Given the description of an element on the screen output the (x, y) to click on. 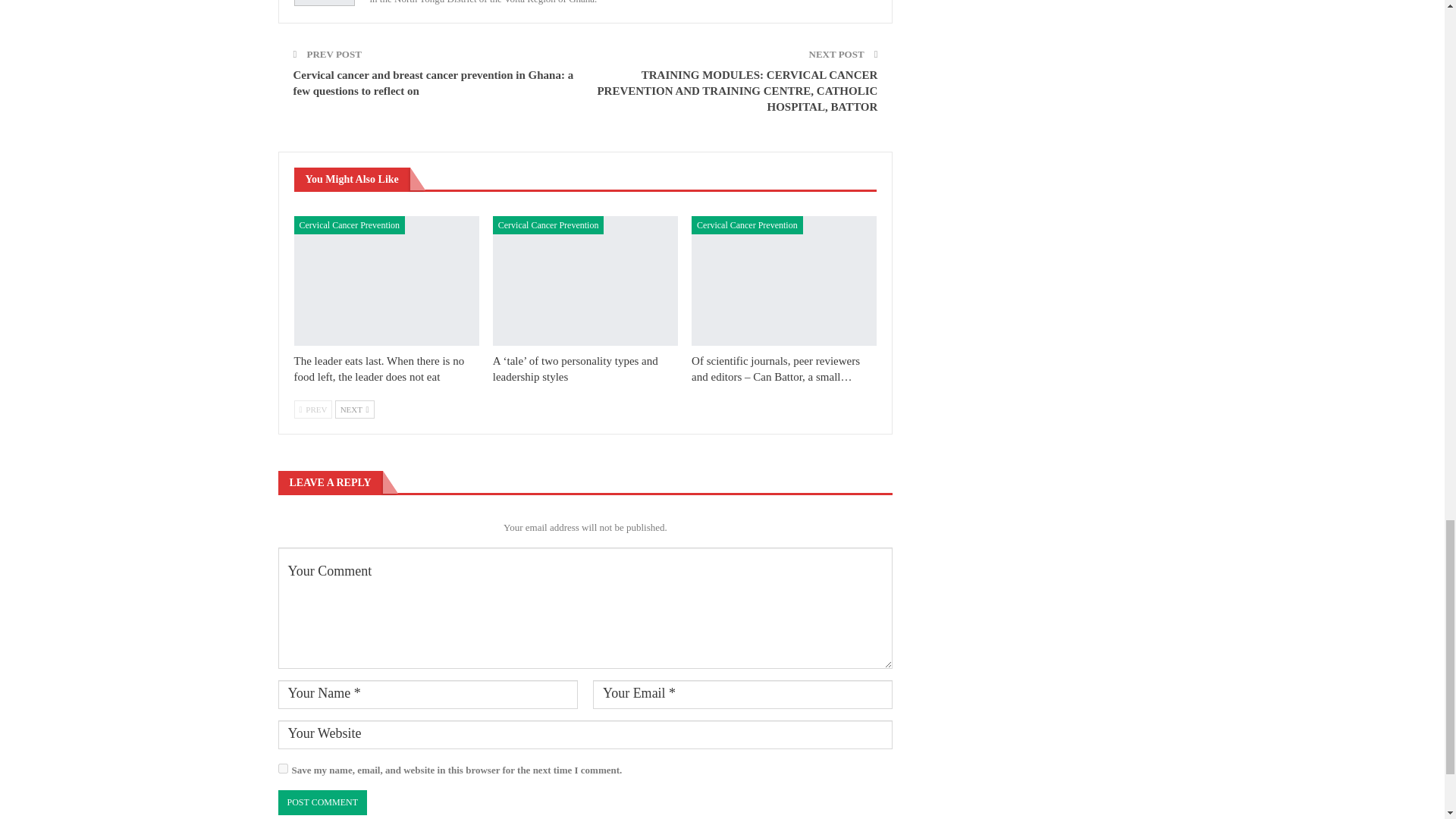
yes (282, 768)
Post Comment (322, 802)
